Given the description of an element on the screen output the (x, y) to click on. 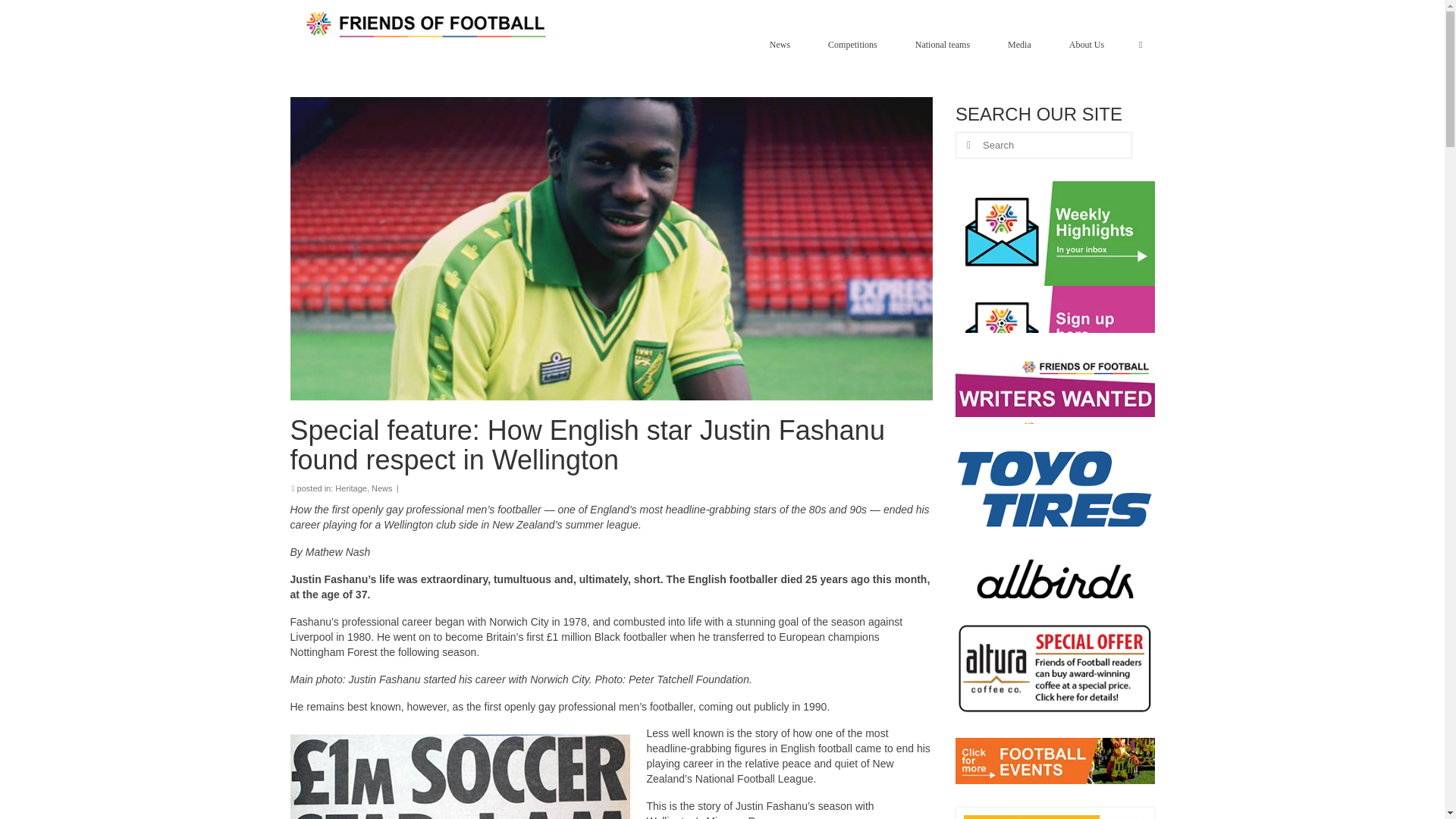
National teams (945, 44)
Competitions (855, 44)
Media (1023, 44)
Search (1140, 44)
About Us (1090, 44)
News (783, 44)
Friends of Football (428, 23)
